Given the description of an element on the screen output the (x, y) to click on. 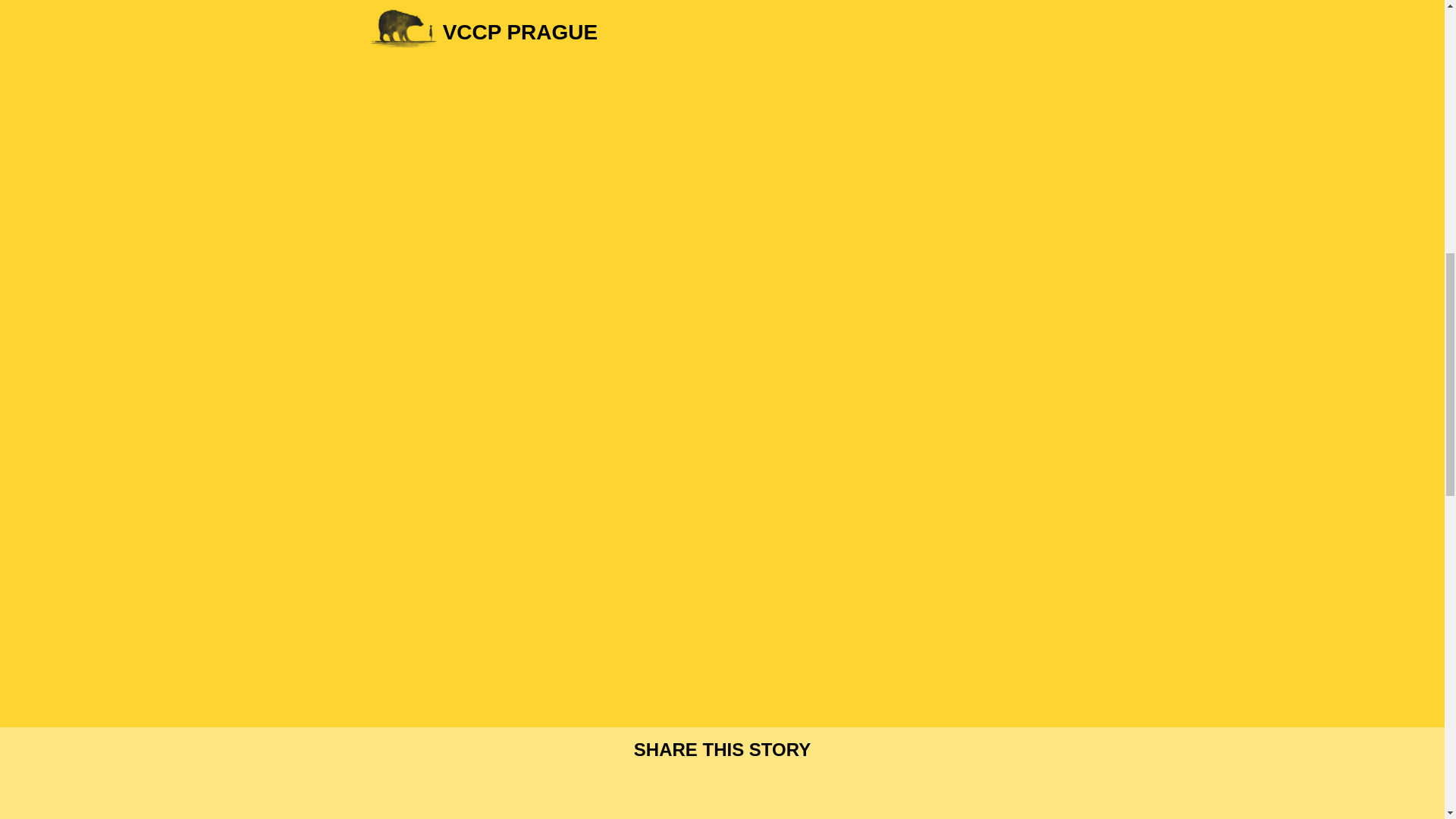
TWITTER (721, 788)
LINKED IN (764, 788)
FACEBOOK (679, 788)
